Given the description of an element on the screen output the (x, y) to click on. 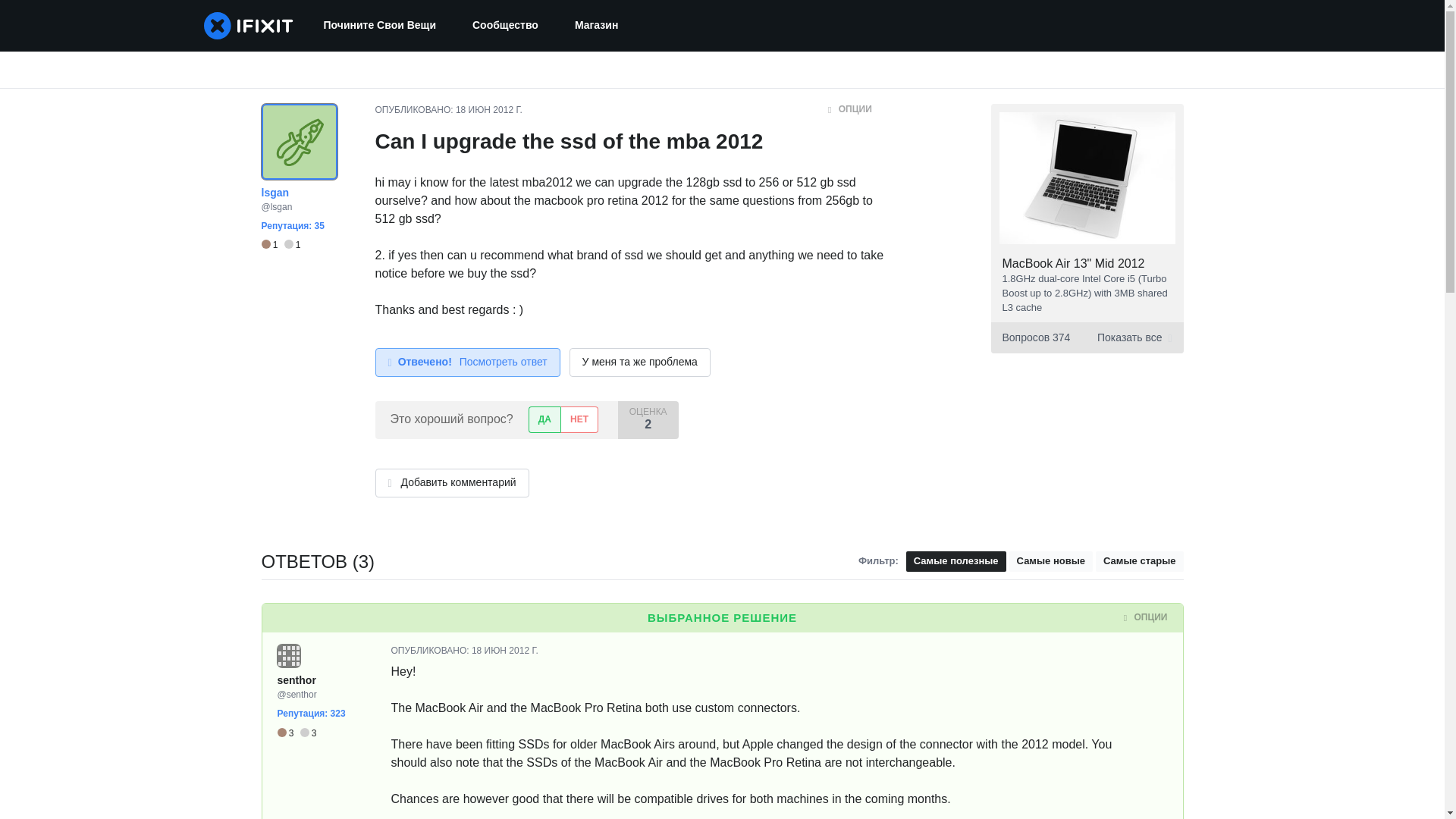
Mon, 18 Jun 2012 16:56:35 -0700 (504, 650)
Mon, 18 Jun 2012 07:00:10 -0700 (488, 109)
3 3 (297, 732)
1 1 (279, 245)
MacBook Air 13" Mid 2012 (1073, 263)
